Given the description of an element on the screen output the (x, y) to click on. 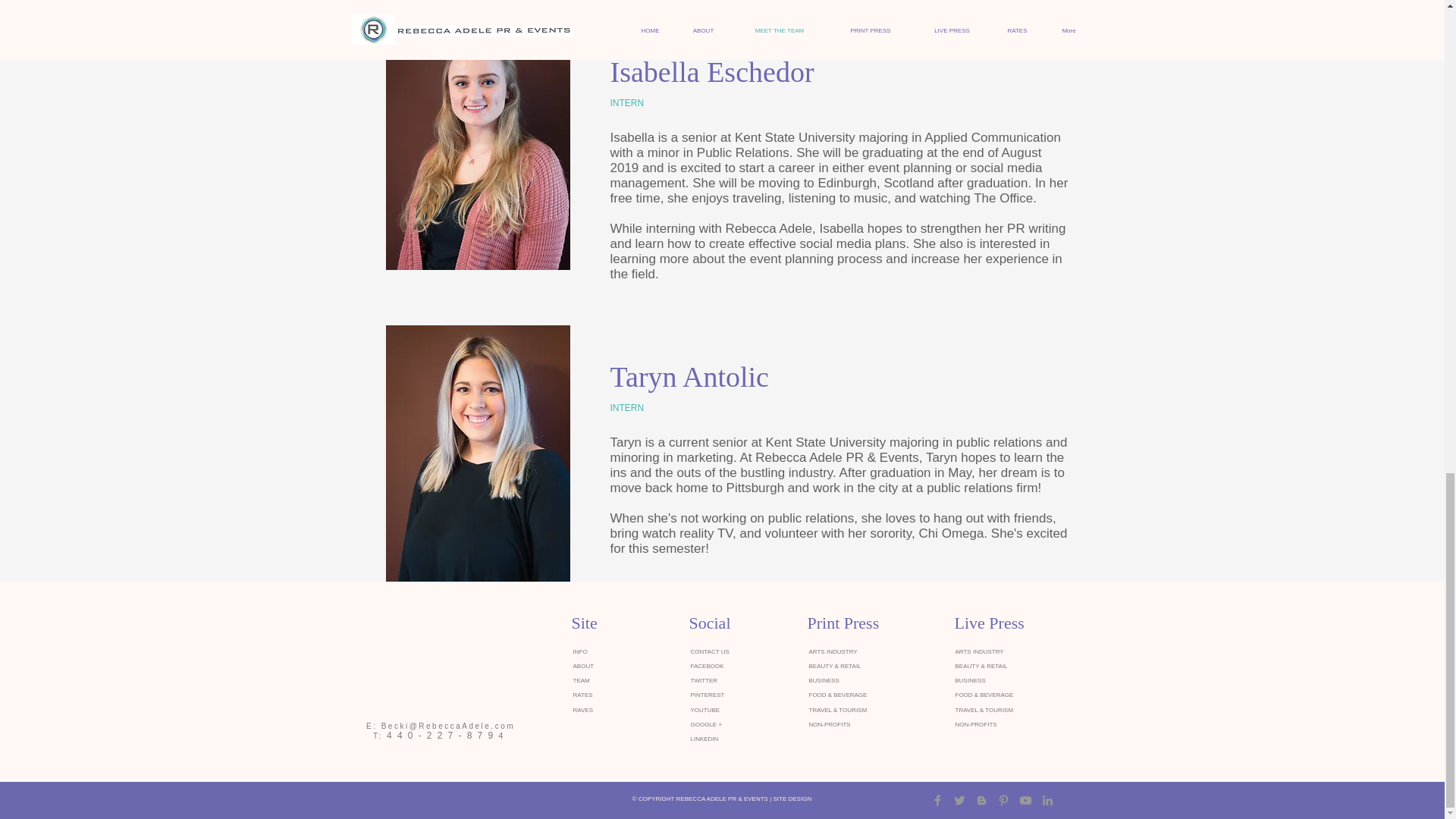
YOUTUBE (704, 709)
RATES (582, 694)
TEAM (581, 680)
TWITTER (703, 680)
INFO (580, 651)
ABOUT (583, 665)
LINKEDIN (703, 738)
RAVES (583, 709)
FACEBOOK (706, 665)
PINTEREST (706, 694)
